Given the description of an element on the screen output the (x, y) to click on. 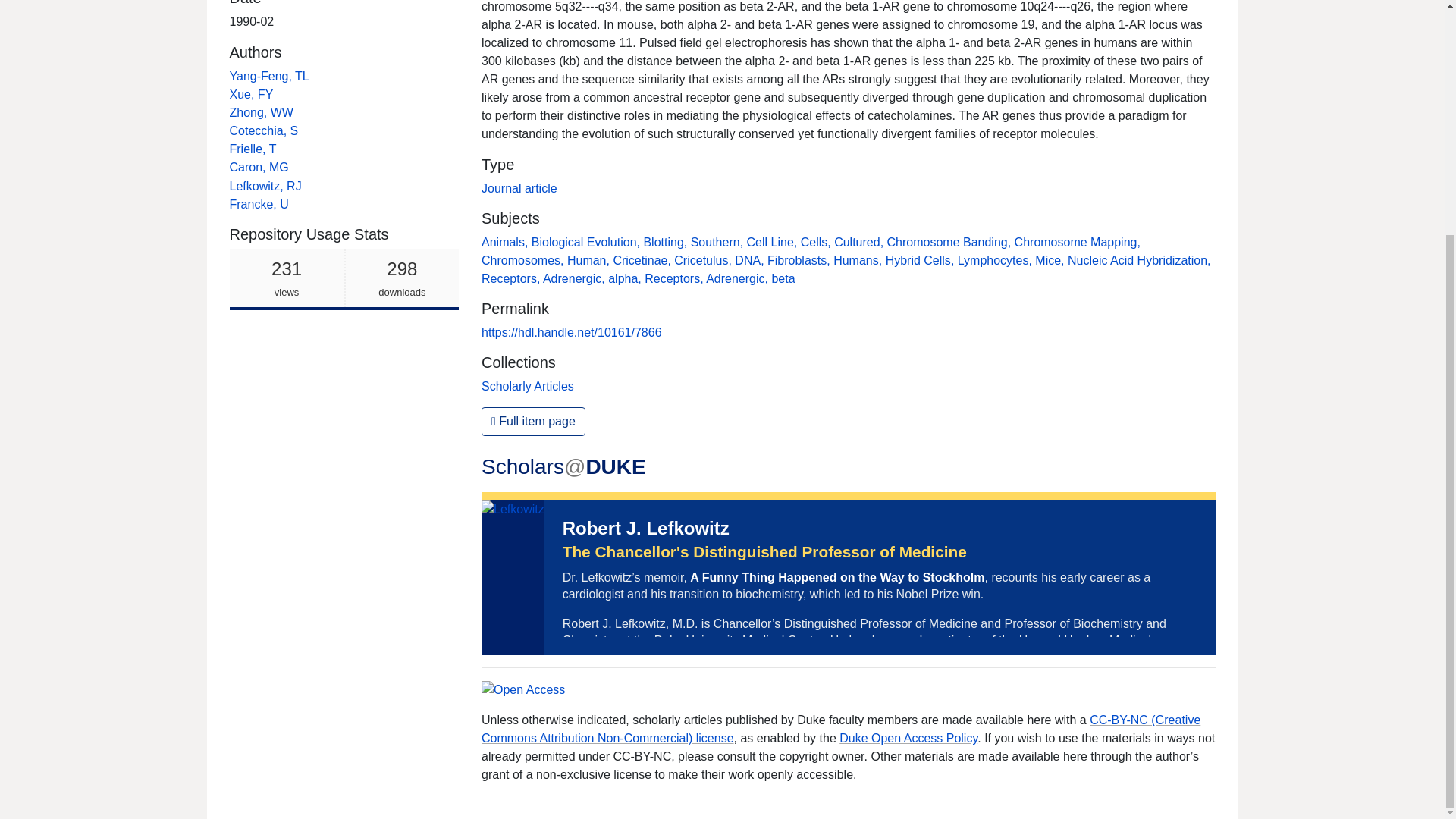
Cells, Cultured, (843, 241)
Lefkowitz, RJ (266, 185)
Xue, FY (250, 93)
Chromosome Banding, (950, 241)
Blotting, Southern, (694, 241)
Yang-Feng, TL (268, 75)
Biological Evolution, (587, 241)
Caron, MG (258, 166)
Frielle, T (252, 148)
Cotecchia, S (263, 130)
Francke, U (258, 204)
Zhong, WW (260, 112)
Animals, (506, 241)
Journal article (519, 187)
Cell Line, (773, 241)
